Given the description of an element on the screen output the (x, y) to click on. 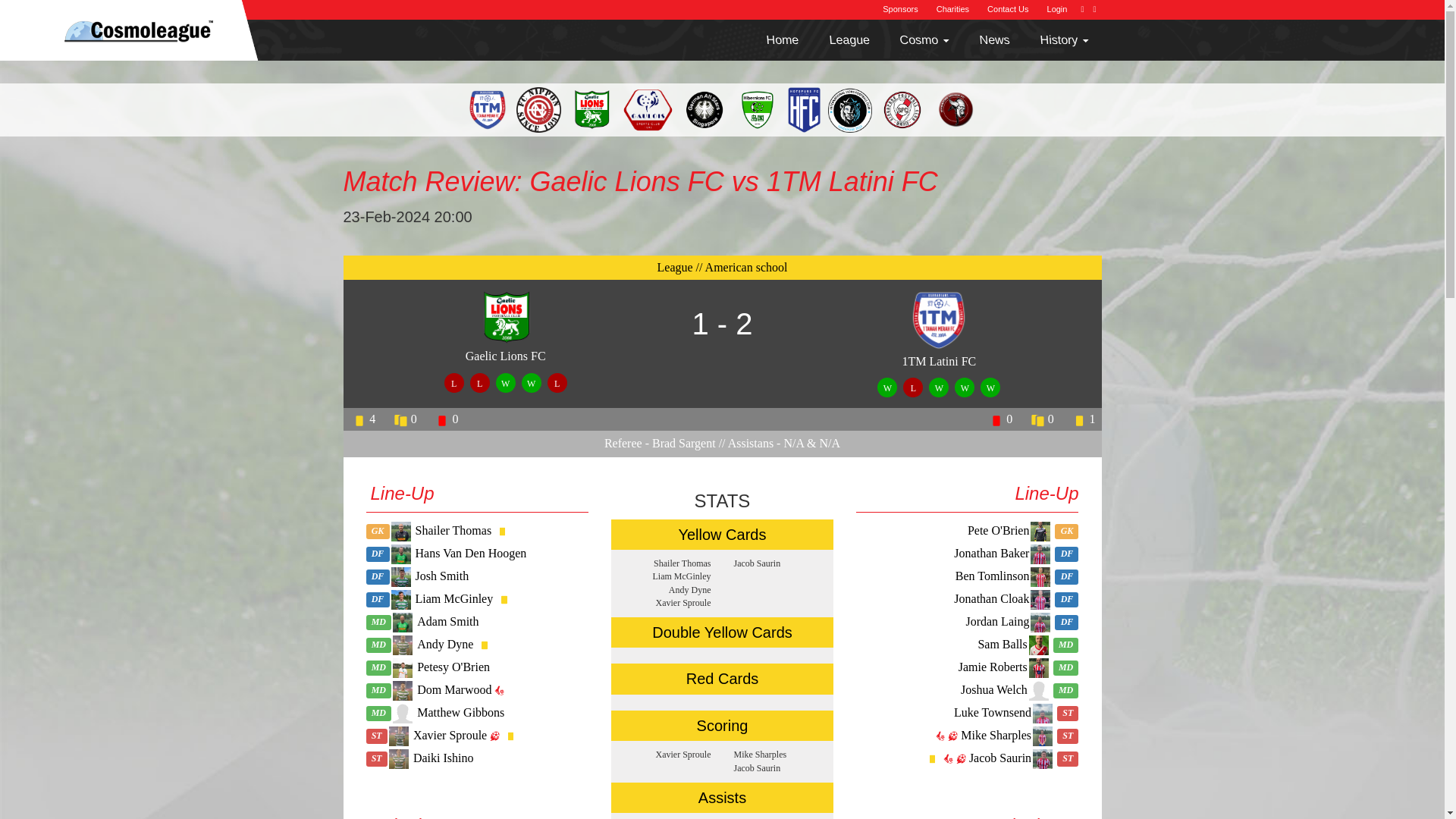
W (531, 383)
Home (771, 30)
News (983, 30)
	Hibernians FC 2 (938, 387)
Hibernians FC (964, 387)
W (886, 387)
FC Nippon  (912, 387)
1TM Latini FC (454, 383)
Singapore Vikings FC (479, 383)
Singapore Vikings FC (531, 383)
Gaulois Sports Club (886, 387)
L (557, 383)
International Lions FC (557, 383)
Login (1057, 8)
Charities (952, 8)
